Given the description of an element on the screen output the (x, y) to click on. 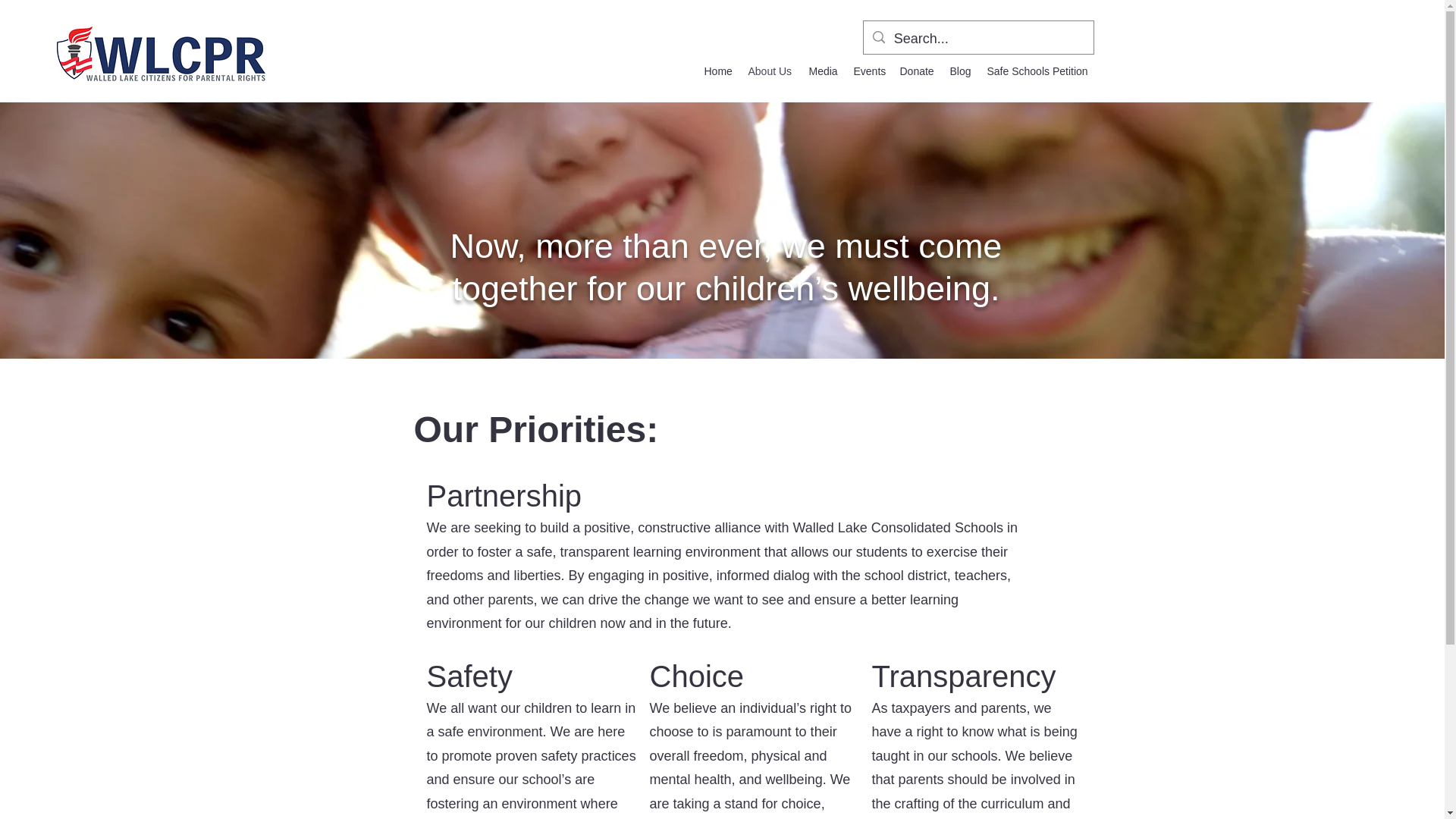
Blog (960, 70)
Donate (916, 70)
Events (868, 70)
About Us (769, 70)
Safe Schools Petition (1036, 70)
Home (717, 70)
